Given the description of an element on the screen output the (x, y) to click on. 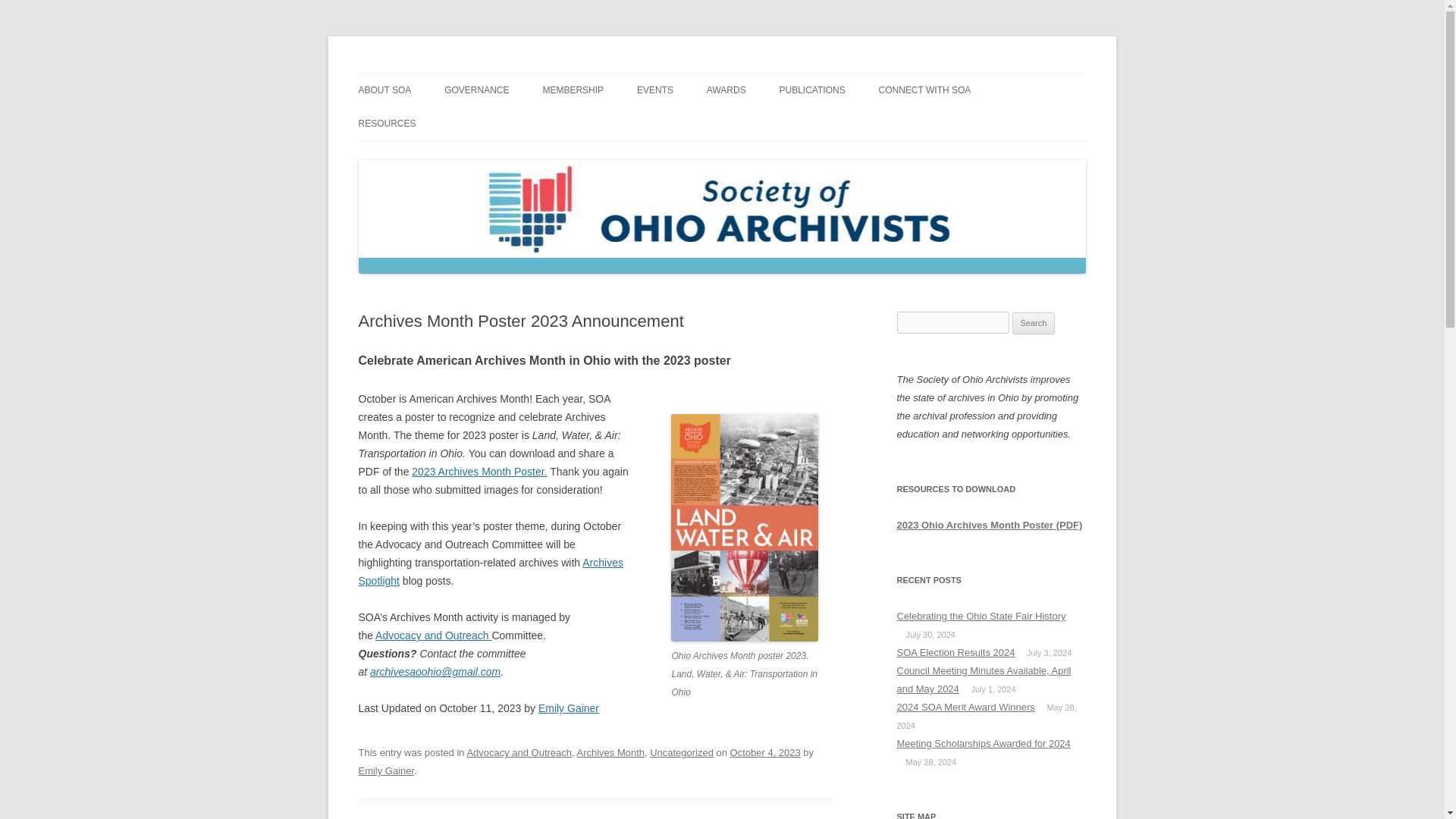
ANNUAL CONFERENCES (713, 122)
ABOUT SOA (384, 90)
Society of Ohio Archivists (480, 72)
View all posts by Emily Gainer (385, 770)
PUBLICATIONS (811, 90)
MEMBERSHIP (572, 90)
HISTORY DAY AWARDS (782, 122)
AWARDS (725, 90)
SOA LISTSERV (954, 122)
Search (1033, 323)
